Given the description of an element on the screen output the (x, y) to click on. 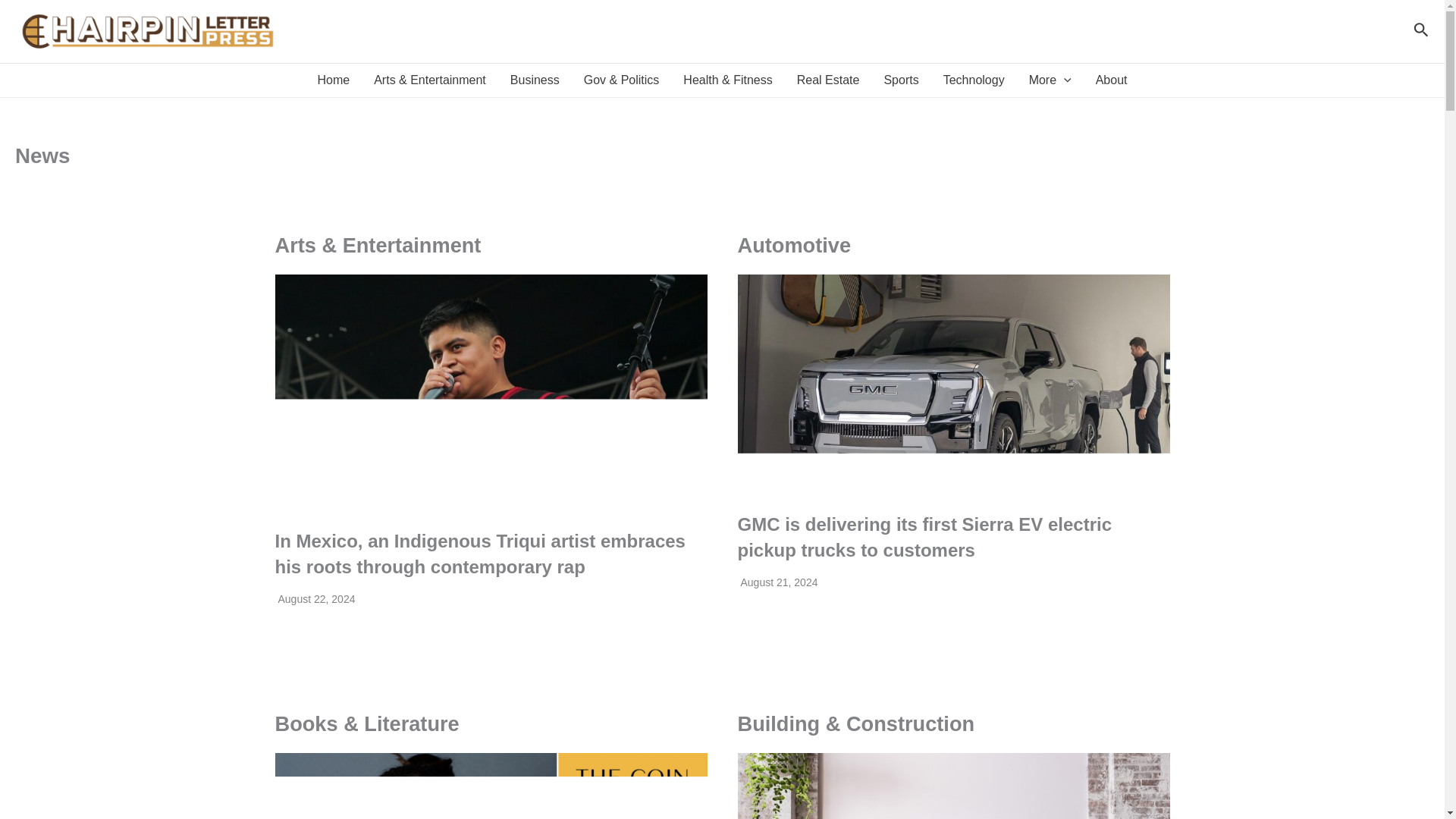
Sports (900, 80)
Home (332, 80)
Business (534, 80)
Real Estate (828, 80)
About (1111, 80)
Technology (973, 80)
More (1049, 80)
